Given the description of an element on the screen output the (x, y) to click on. 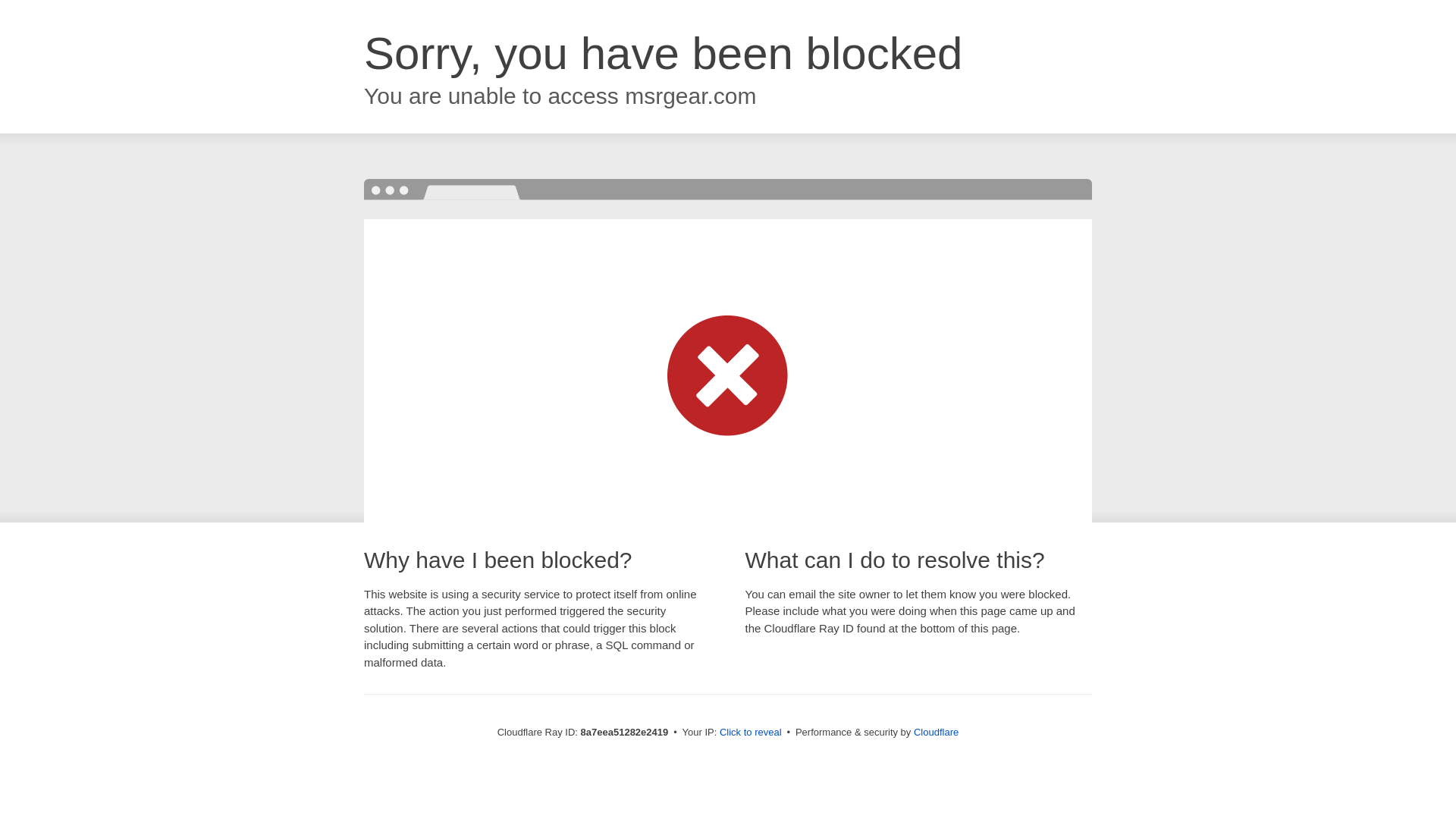
Click to reveal (750, 732)
Cloudflare (936, 731)
